Given the description of an element on the screen output the (x, y) to click on. 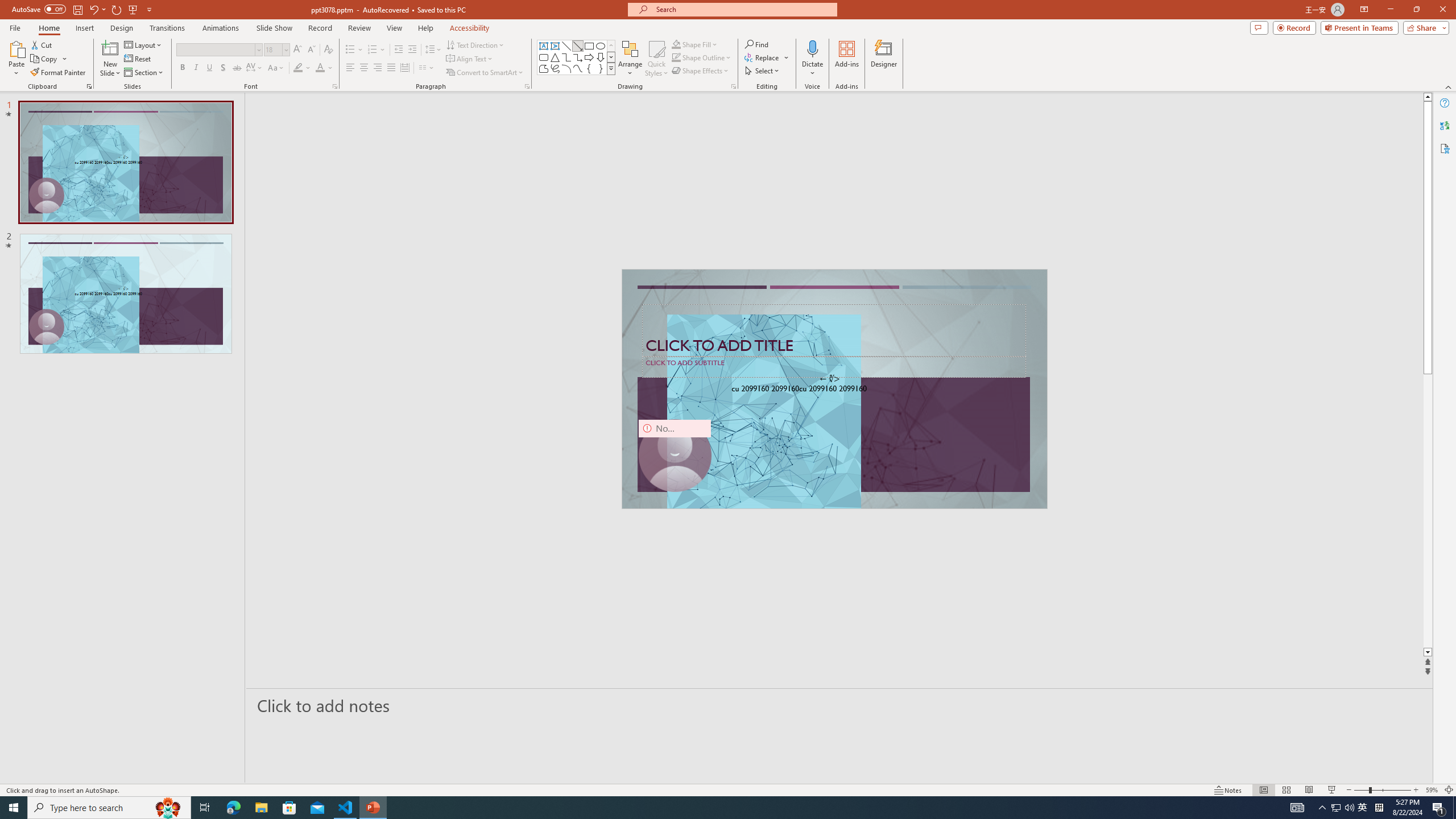
An abstract genetic concept (833, 388)
Camera 9, No camera detected. (674, 455)
TextBox 7 (829, 378)
